Given the description of an element on the screen output the (x, y) to click on. 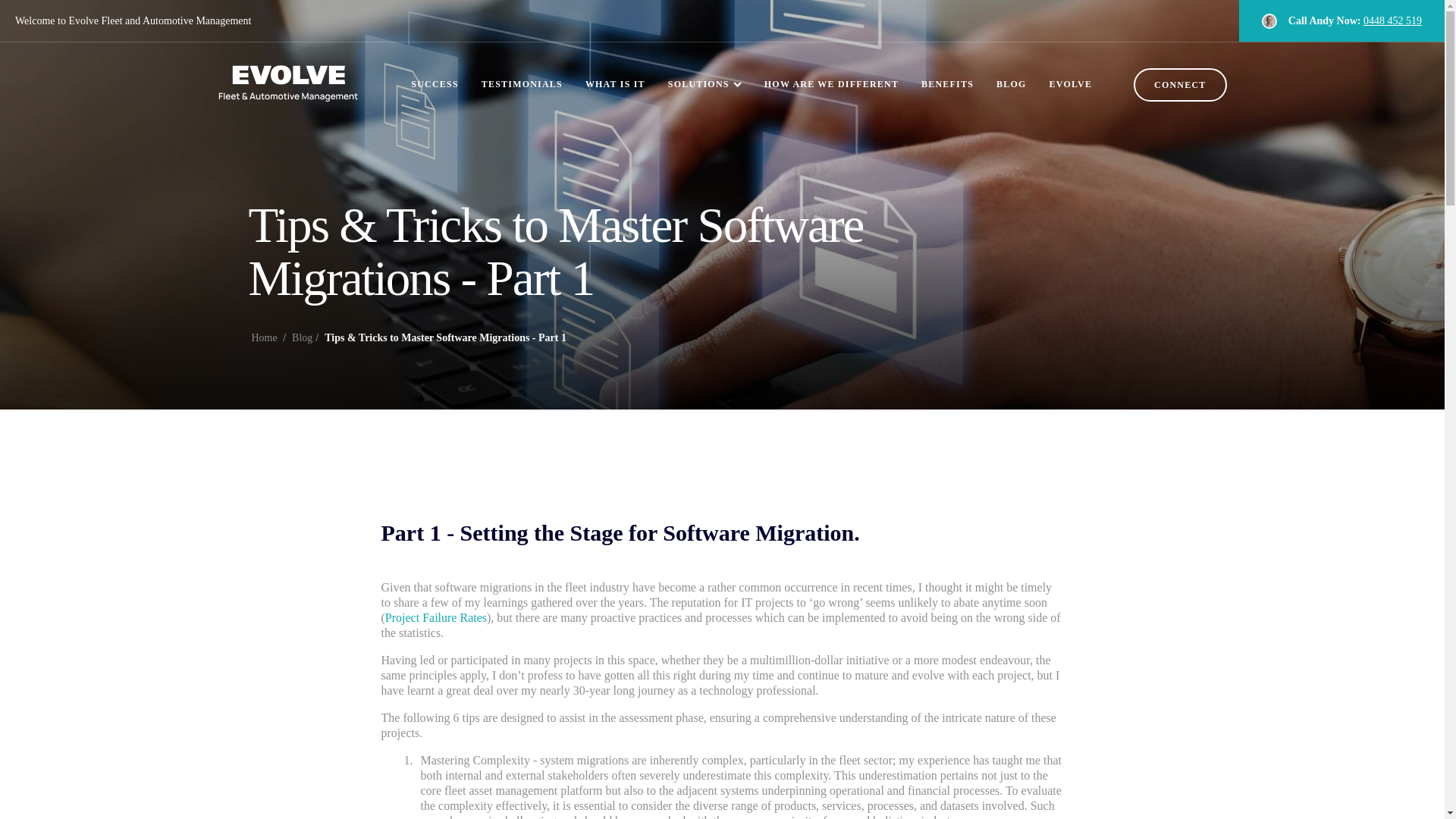
HOW ARE WE DIFFERENT (831, 72)
CONNECT (1179, 84)
Blog (302, 337)
Breadcrumb link to Home (264, 337)
WHAT IS IT (615, 72)
Home (264, 337)
SOLUTIONS (704, 72)
BENEFITS (947, 72)
Project Failure Rates (435, 617)
TESTIMONIALS (521, 72)
